Given the description of an element on the screen output the (x, y) to click on. 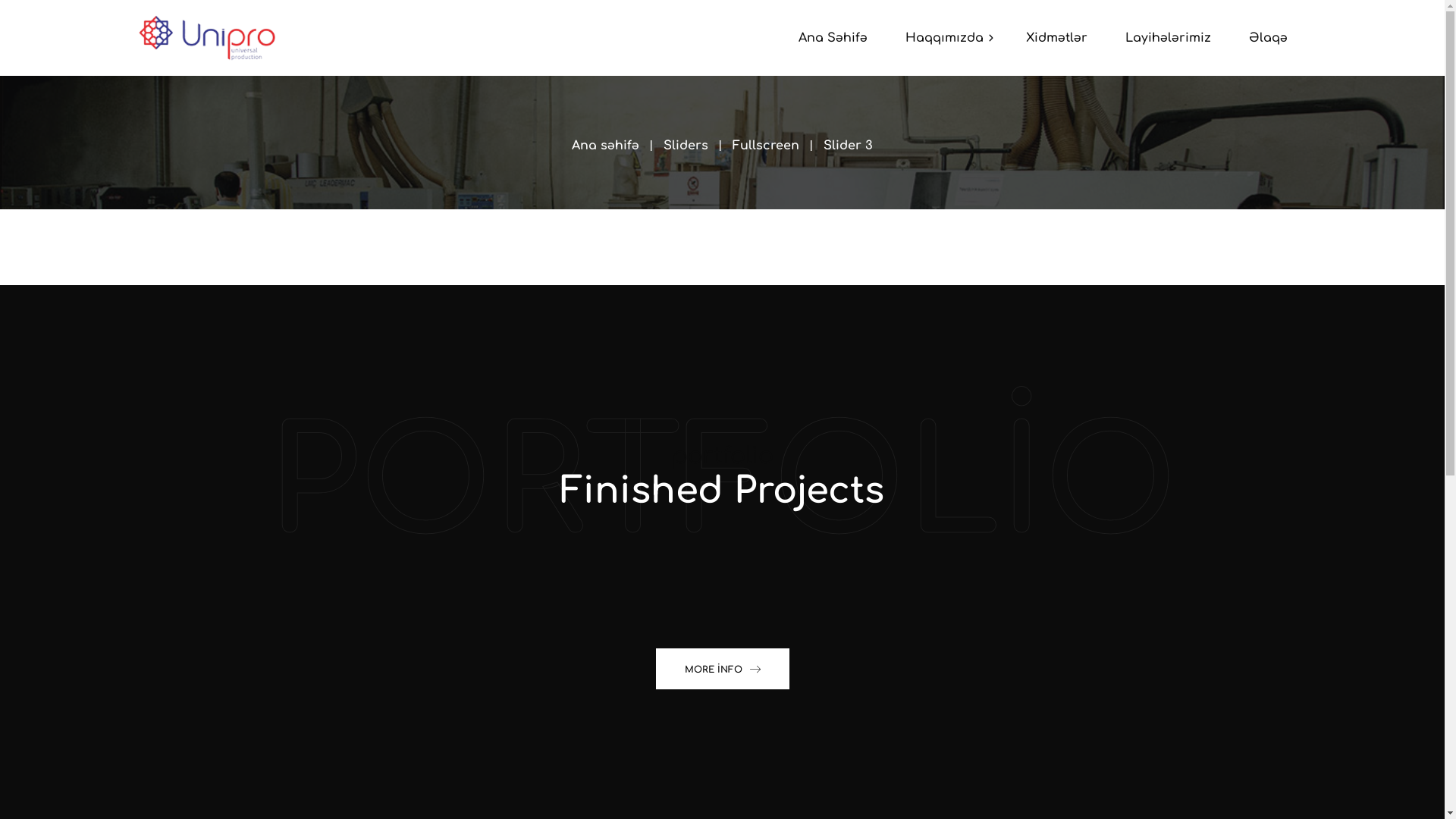
Sliders Element type: text (685, 145)
Fullscreen Element type: text (765, 145)
MORE INFO Element type: text (721, 668)
